Given the description of an element on the screen output the (x, y) to click on. 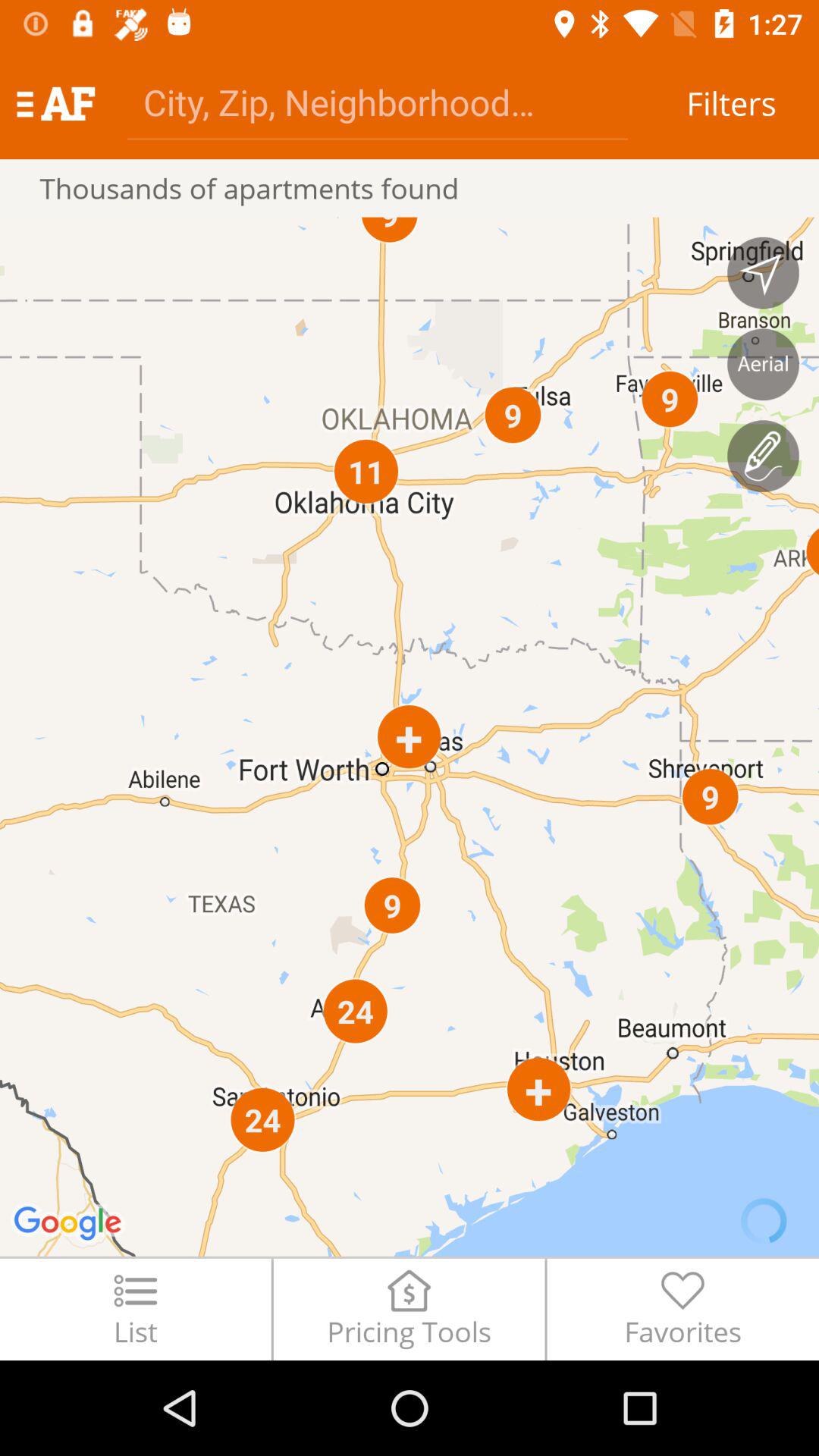
open the filters item (731, 103)
